Given the description of an element on the screen output the (x, y) to click on. 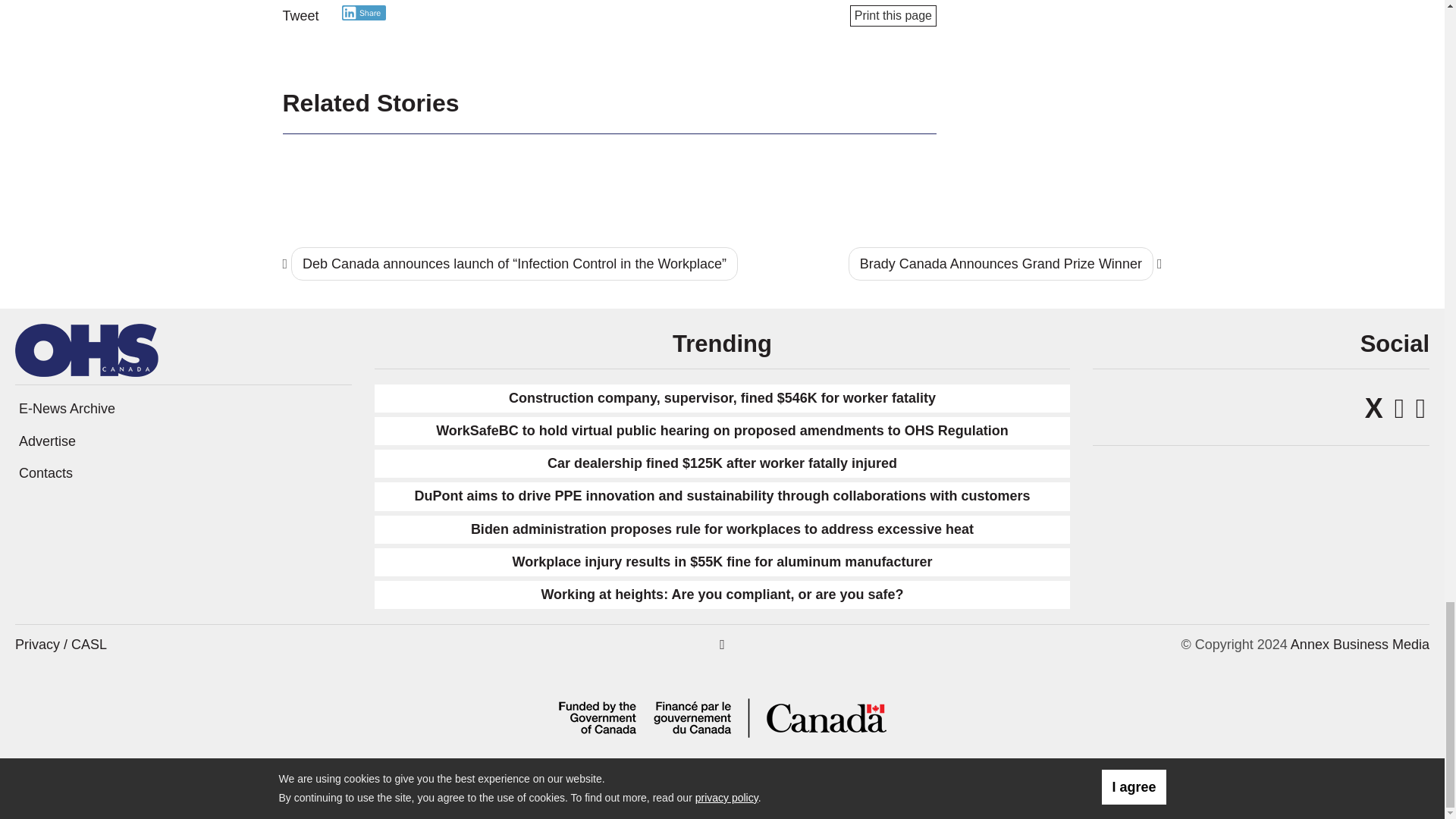
Annex Business Media (1359, 644)
OHS Canada Magazine (86, 349)
